Given the description of an element on the screen output the (x, y) to click on. 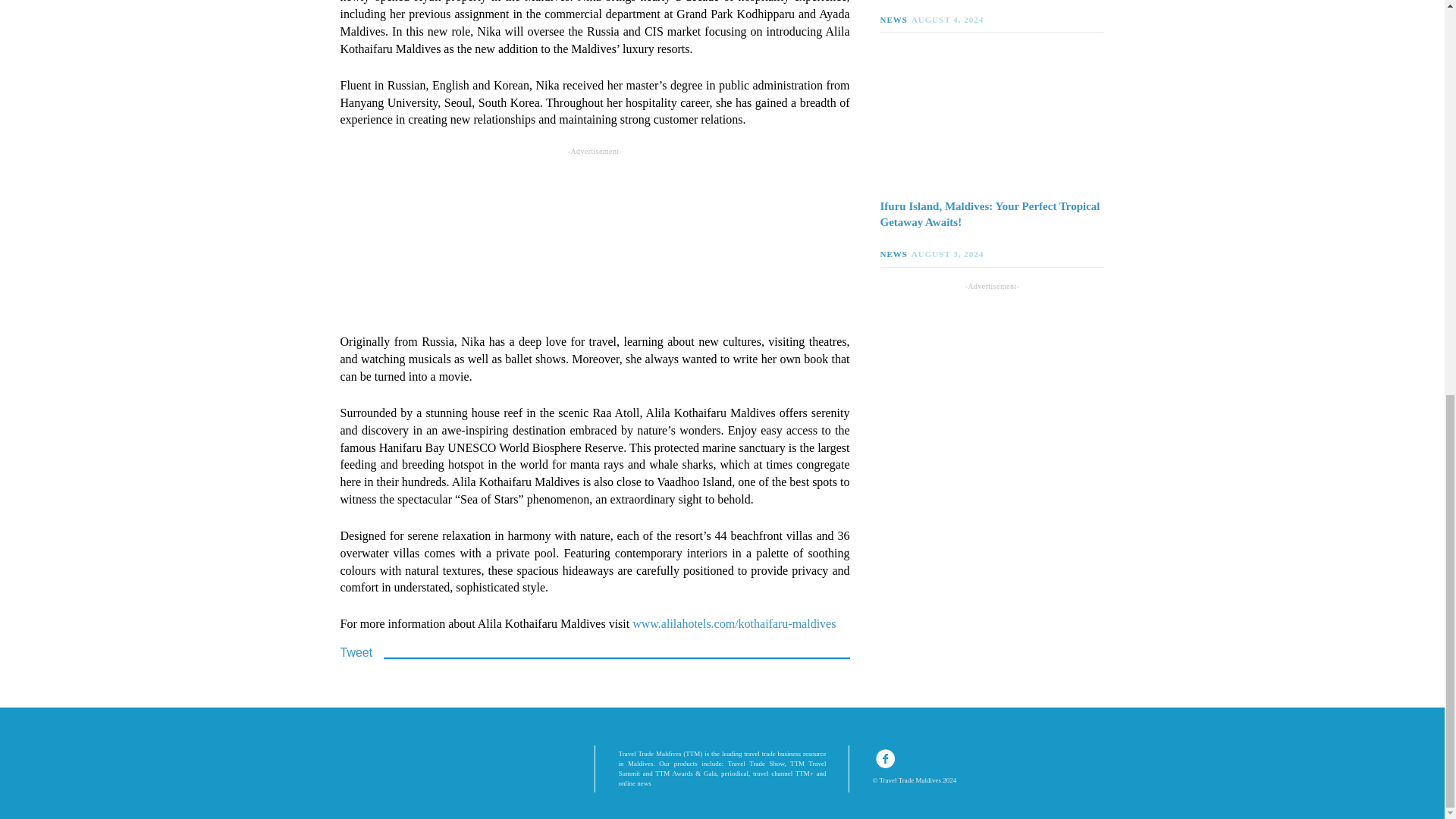
Tweet (355, 652)
NEWS (895, 19)
NEWS (895, 253)
